Given the description of an element on the screen output the (x, y) to click on. 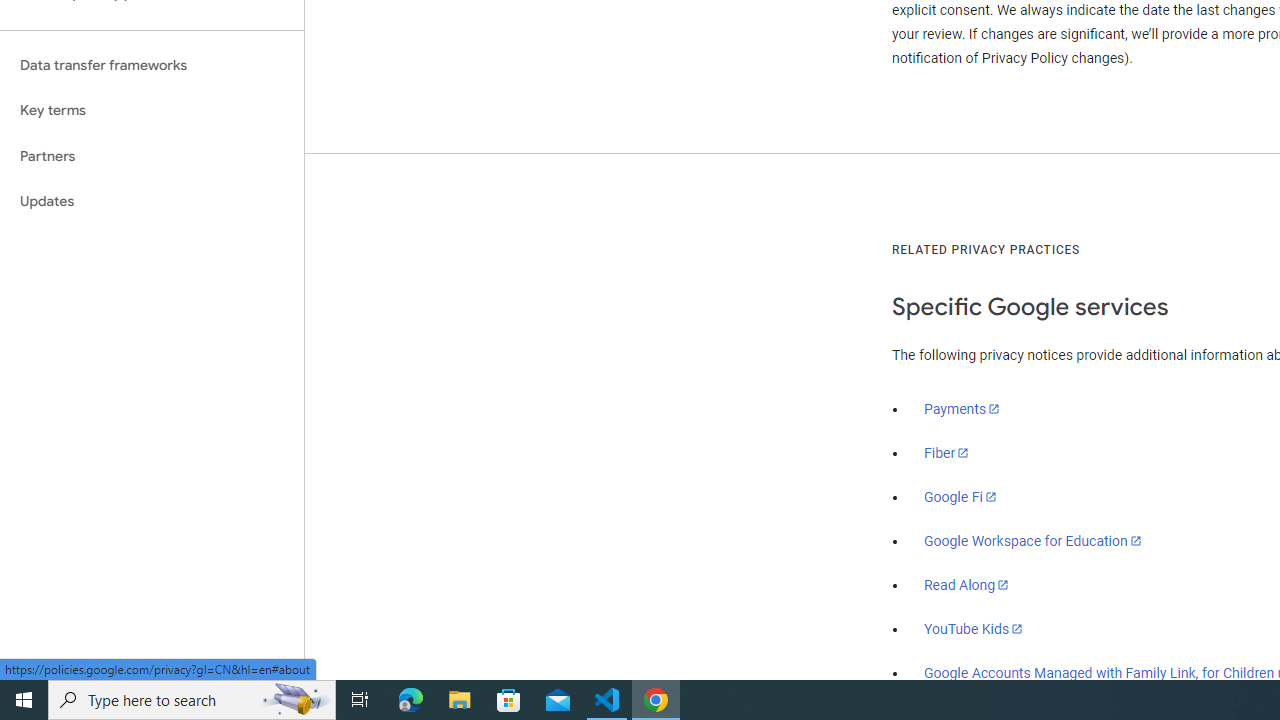
Read Along (966, 585)
Partners (152, 156)
Data transfer frameworks (152, 65)
Key terms (152, 110)
Fiber (947, 453)
Google Workspace for Education (1032, 541)
Payments (962, 409)
Google Fi (960, 497)
YouTube Kids (974, 628)
